Given the description of an element on the screen output the (x, y) to click on. 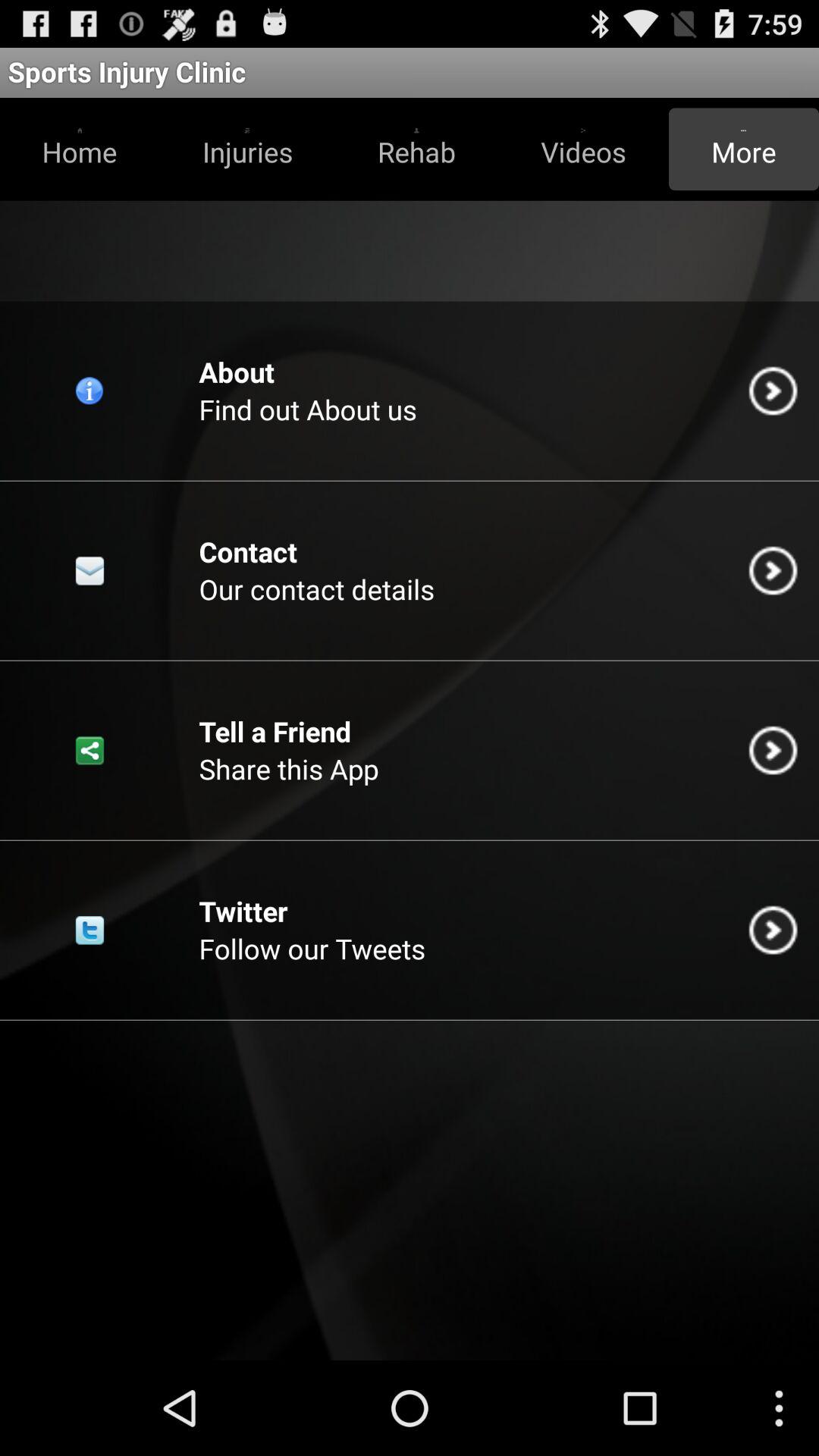
open the button next to the videos icon (416, 149)
